Given the description of an element on the screen output the (x, y) to click on. 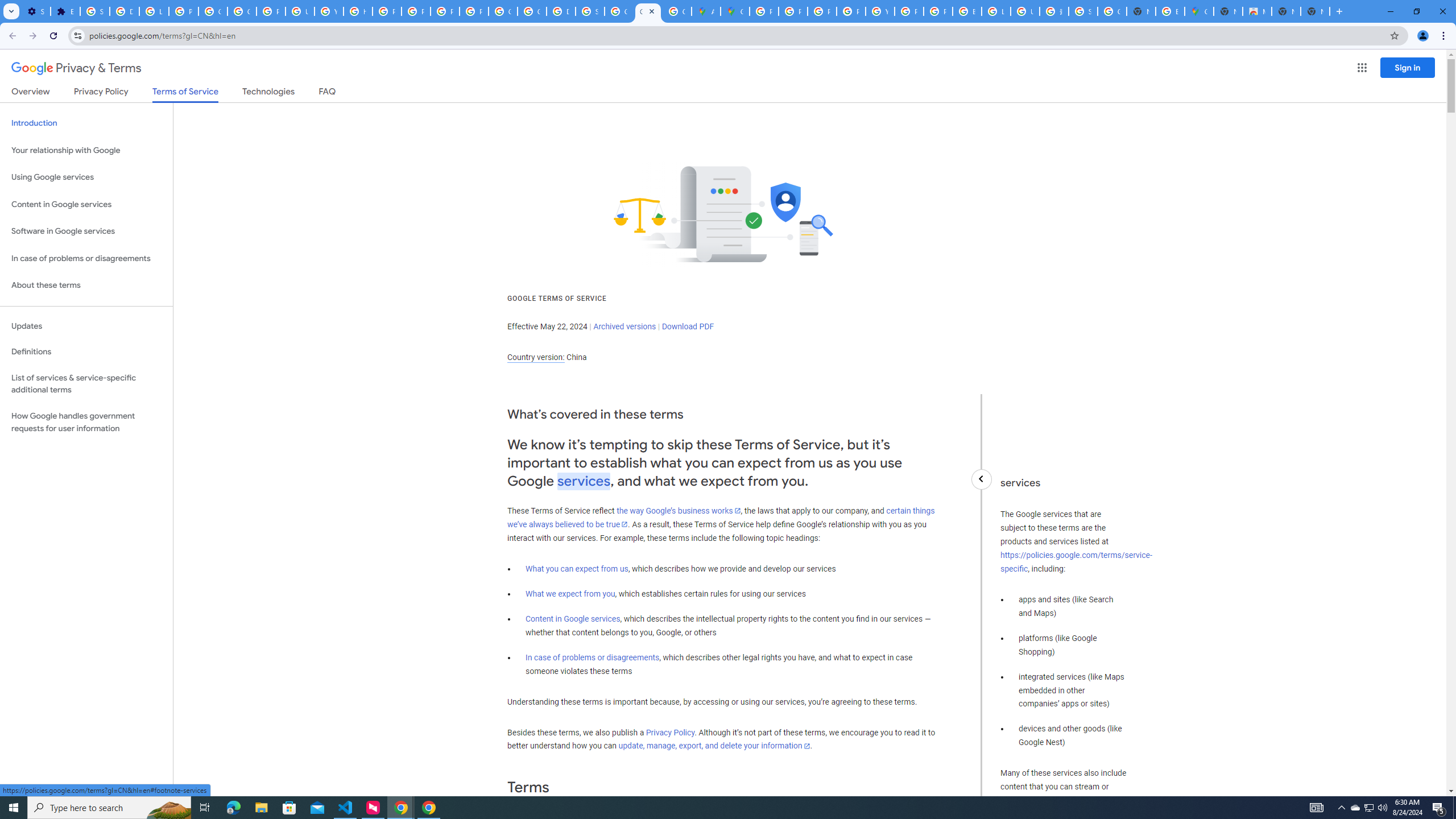
Explore new street-level details - Google Maps Help (1169, 11)
Using Google services (86, 176)
New Tab (1227, 11)
Google Account Help (212, 11)
